Given the description of an element on the screen output the (x, y) to click on. 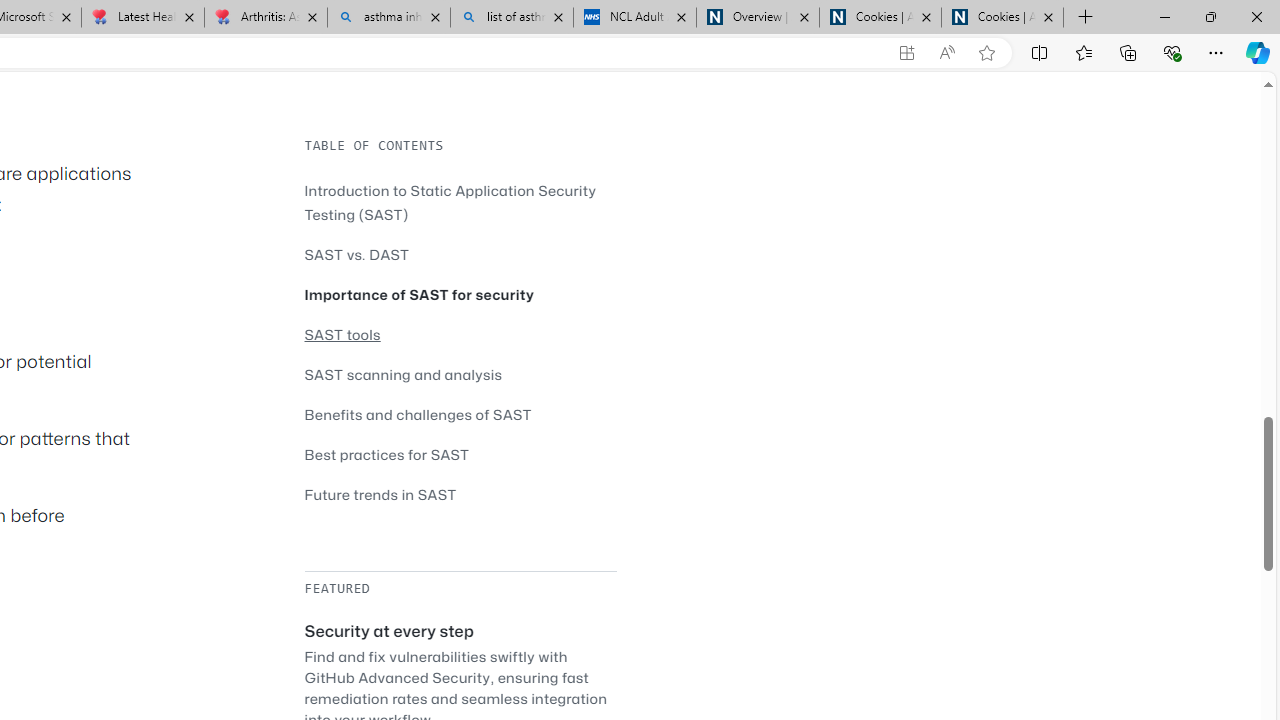
SAST tools (460, 334)
SAST vs. DAST (356, 254)
Importance of SAST for security (460, 294)
Future trends in SAST (460, 493)
NCL Adult Asthma Inhaler Choice Guideline (634, 17)
Cookies | About | NICE (1002, 17)
SAST scanning and analysis (460, 374)
Arthritis: Ask Health Professionals (265, 17)
SAST tools (342, 334)
Best practices for SAST (460, 454)
